Given the description of an element on the screen output the (x, y) to click on. 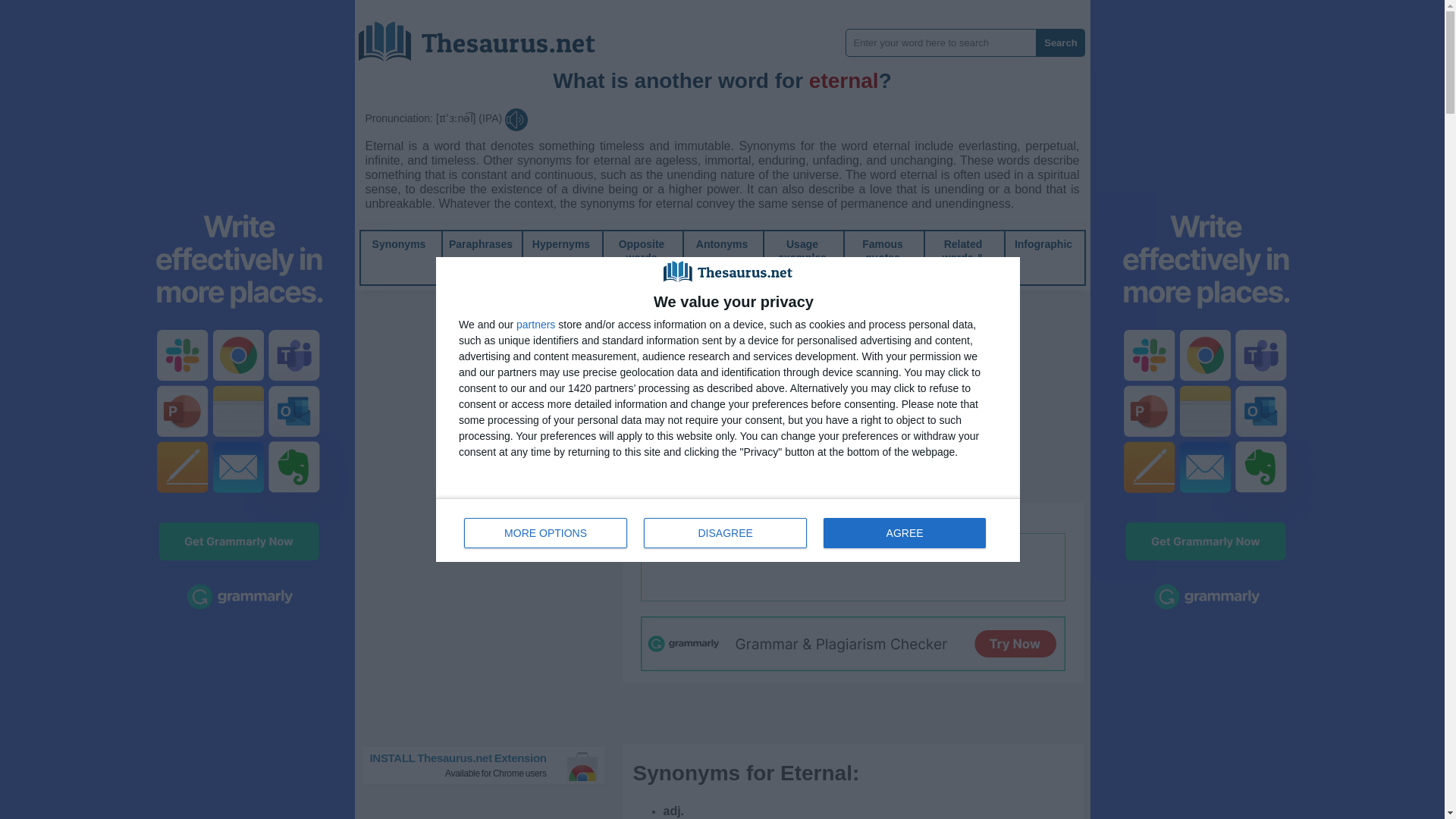
Famous quotes (881, 250)
Hypernyms (560, 244)
Usage examples (802, 250)
Antonyms (721, 244)
Paraphrases (480, 244)
Infographic (1042, 244)
Thesaurus.net (487, 35)
Infographic (1042, 244)
MORE OPTIONS (545, 532)
Synonyms (727, 529)
DISAGREE (399, 244)
Hypernyms (724, 532)
Opposite words (560, 244)
